Given the description of an element on the screen output the (x, y) to click on. 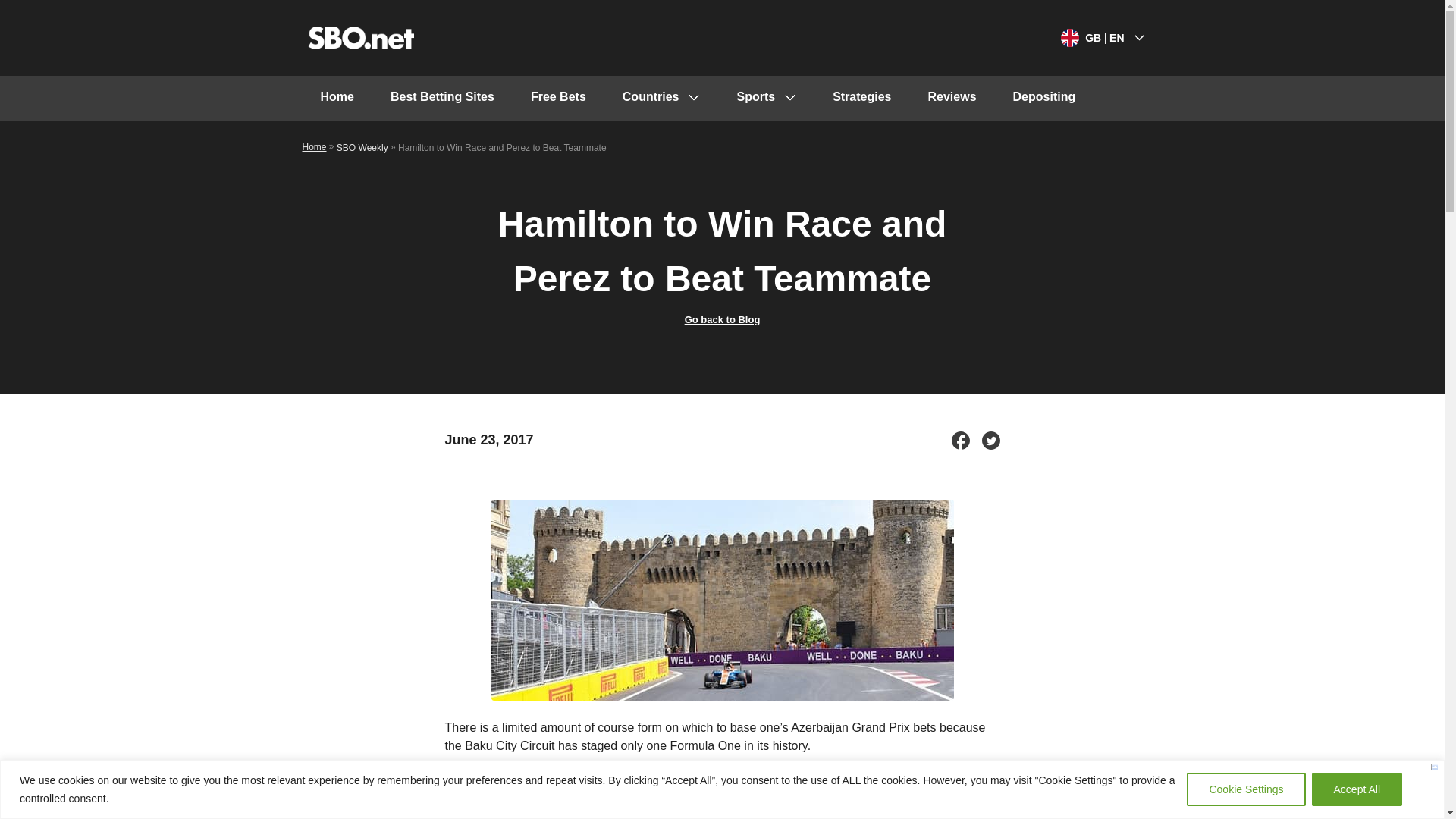
Home (336, 98)
Countries (661, 98)
Best Betting Sites (442, 98)
Free Bets (558, 98)
Sports (765, 98)
Accept All (1356, 789)
Cookie Settings (1245, 789)
